Given the description of an element on the screen output the (x, y) to click on. 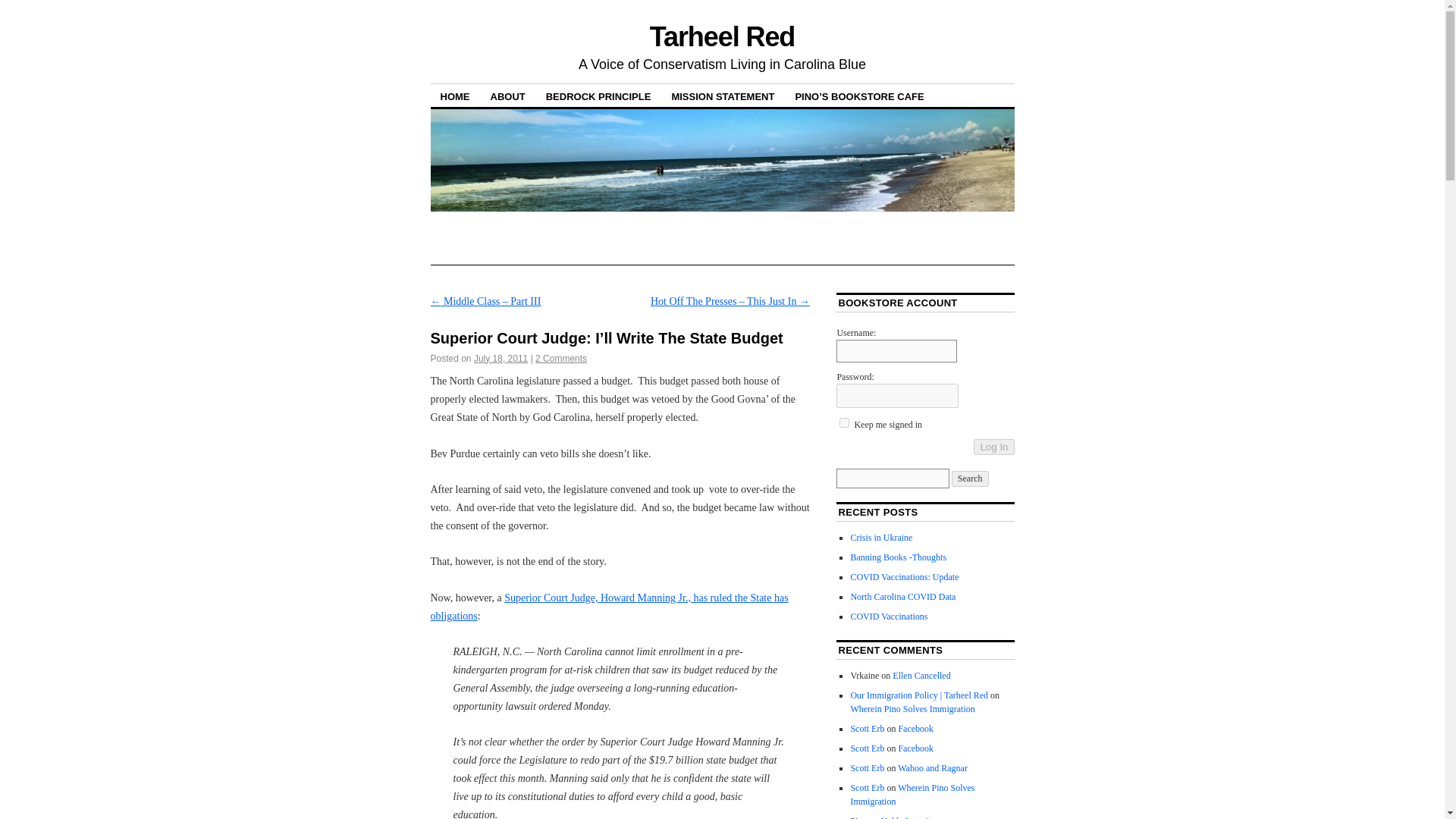
forever (844, 422)
BEDROCK PRINCIPLE (598, 96)
10:12 pm (500, 357)
Tarheel Red (721, 36)
MISSION STATEMENT (722, 96)
HOME (455, 96)
Log In (993, 446)
2 Comments (560, 357)
Tarheel Red (721, 36)
